Given the description of an element on the screen output the (x, y) to click on. 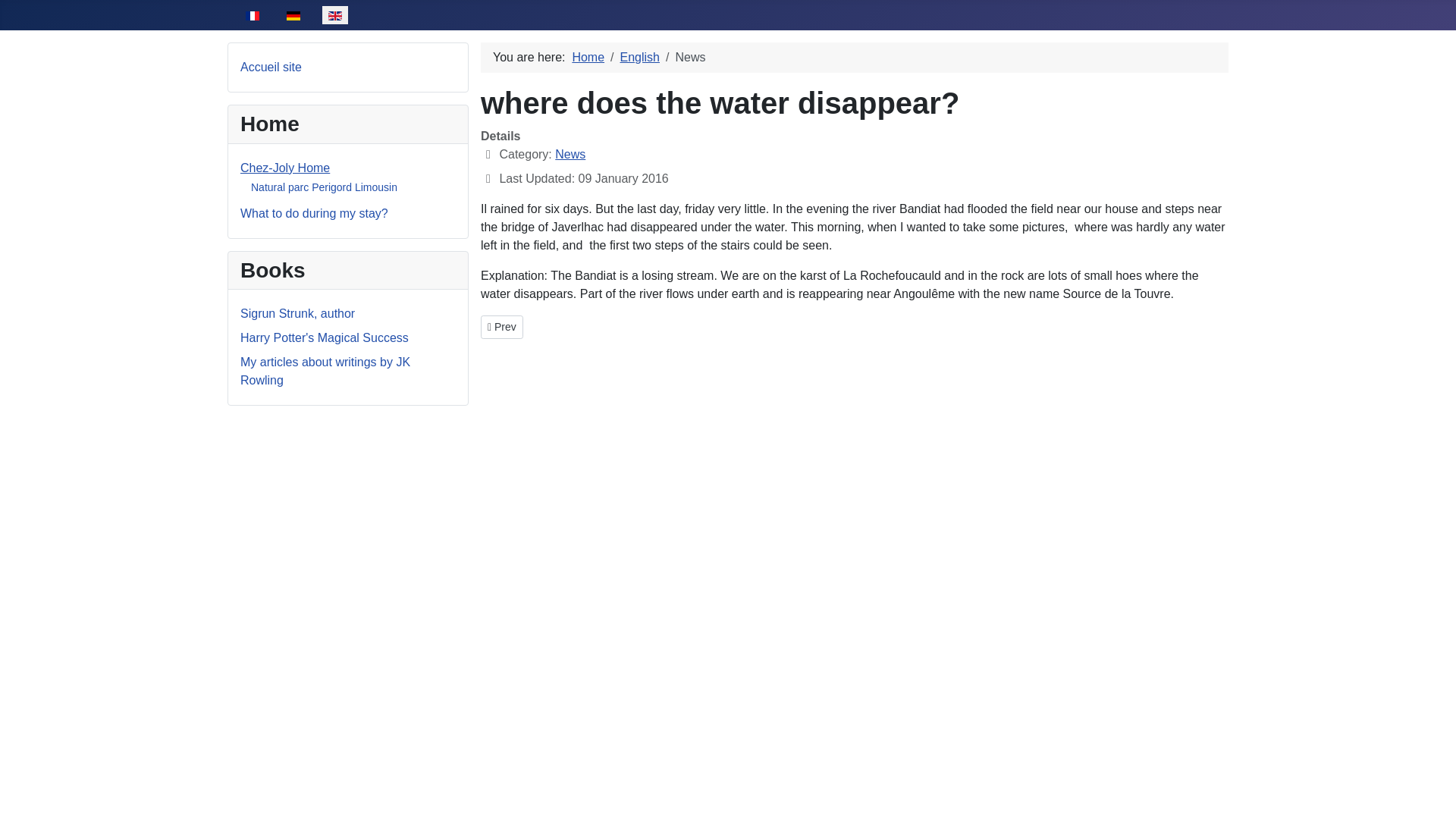
Sigrun Strunk, author (297, 313)
Harry Potter's Magical Success (324, 337)
Accueil site (270, 66)
Natural parc Perigord Limousin (323, 186)
Home (501, 327)
fr-FR (588, 56)
Chez-Joly Home (252, 15)
Deutsch (285, 167)
What to do during my stay? (292, 15)
